Given the description of an element on the screen output the (x, y) to click on. 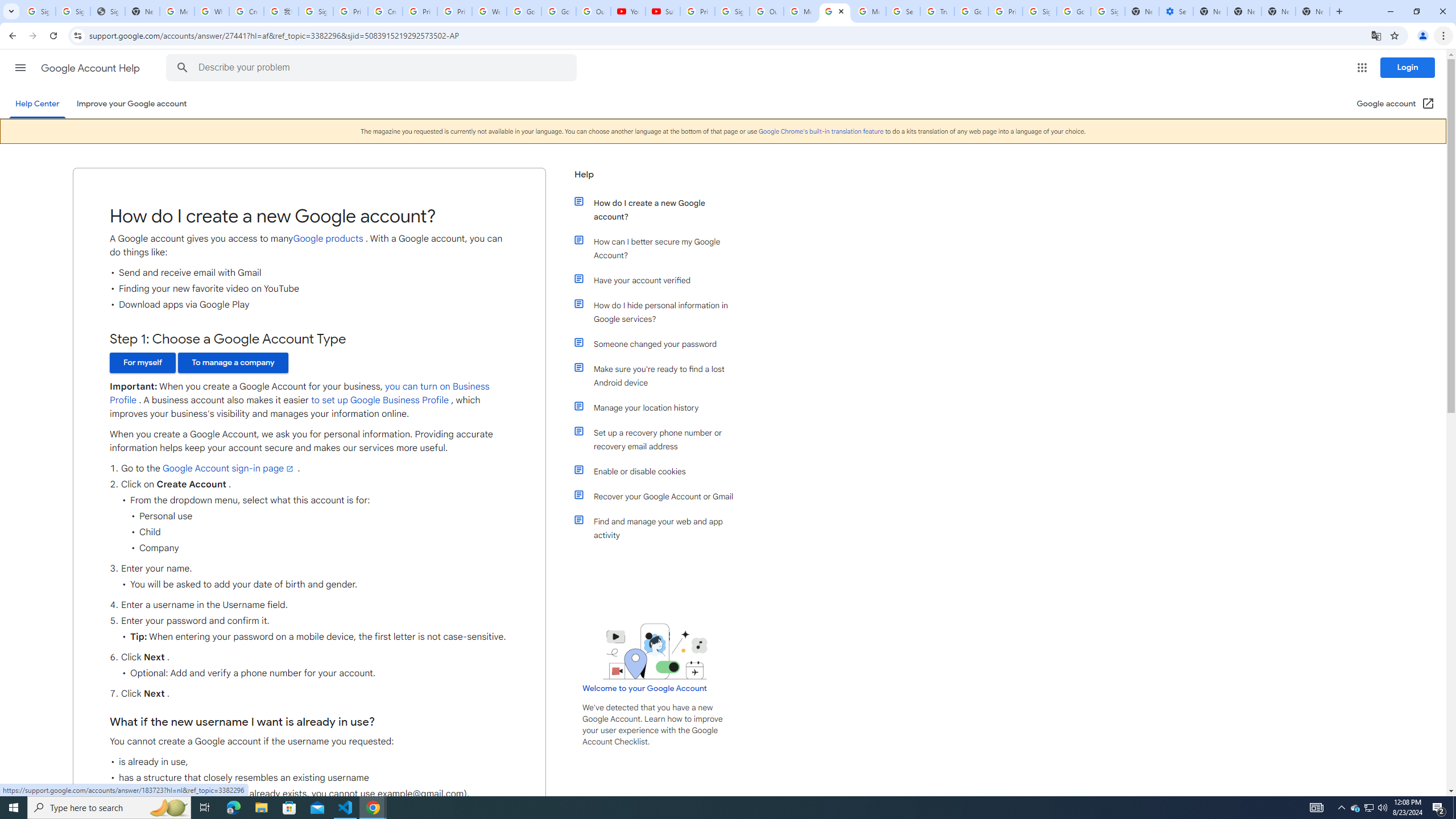
Google Ads - Sign in (970, 11)
For myself (142, 362)
Google Chrome's built-in translation feature (820, 131)
Describe your problem (373, 67)
Trusted Information and Content - Google Safety Center (937, 11)
How do I create a new Google Account? - Google Account Help (834, 11)
Someone changed your password (661, 343)
Recover your Google Account or Gmail (661, 496)
Subscriptions - YouTube (662, 11)
Who is my administrator? - Google Account Help (211, 11)
Search our Doodle Library Collection - Google Doodles (903, 11)
